Given the description of an element on the screen output the (x, y) to click on. 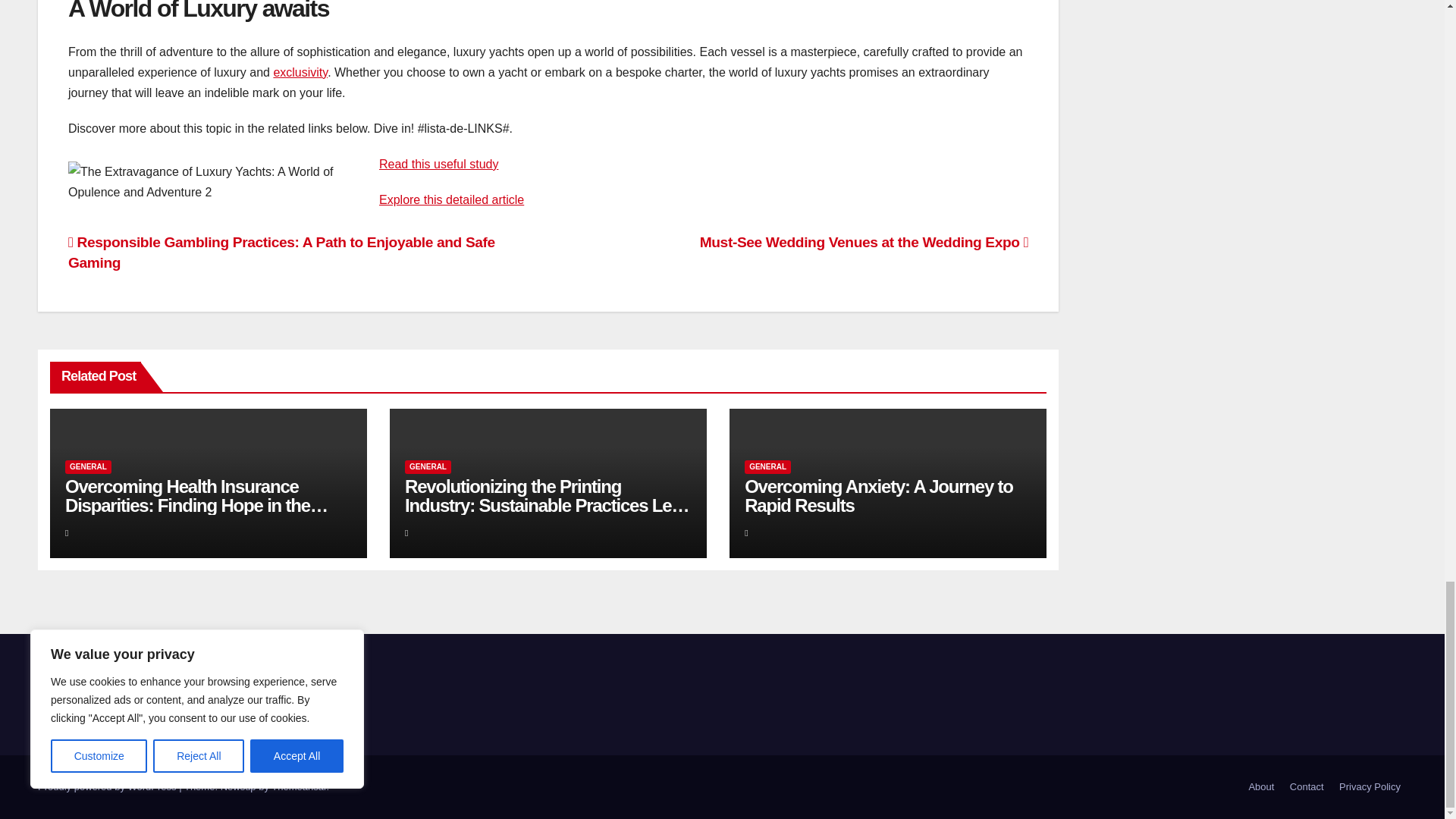
Permalink to: Overcoming Anxiety: A Journey to Rapid Results (878, 495)
Contact (1307, 786)
GENERAL (767, 467)
GENERAL (427, 467)
exclusivity (300, 72)
Read this useful study (437, 164)
Explore this detailed article (451, 199)
Overcoming Anxiety: A Journey to Rapid Results (878, 495)
